Given the description of an element on the screen output the (x, y) to click on. 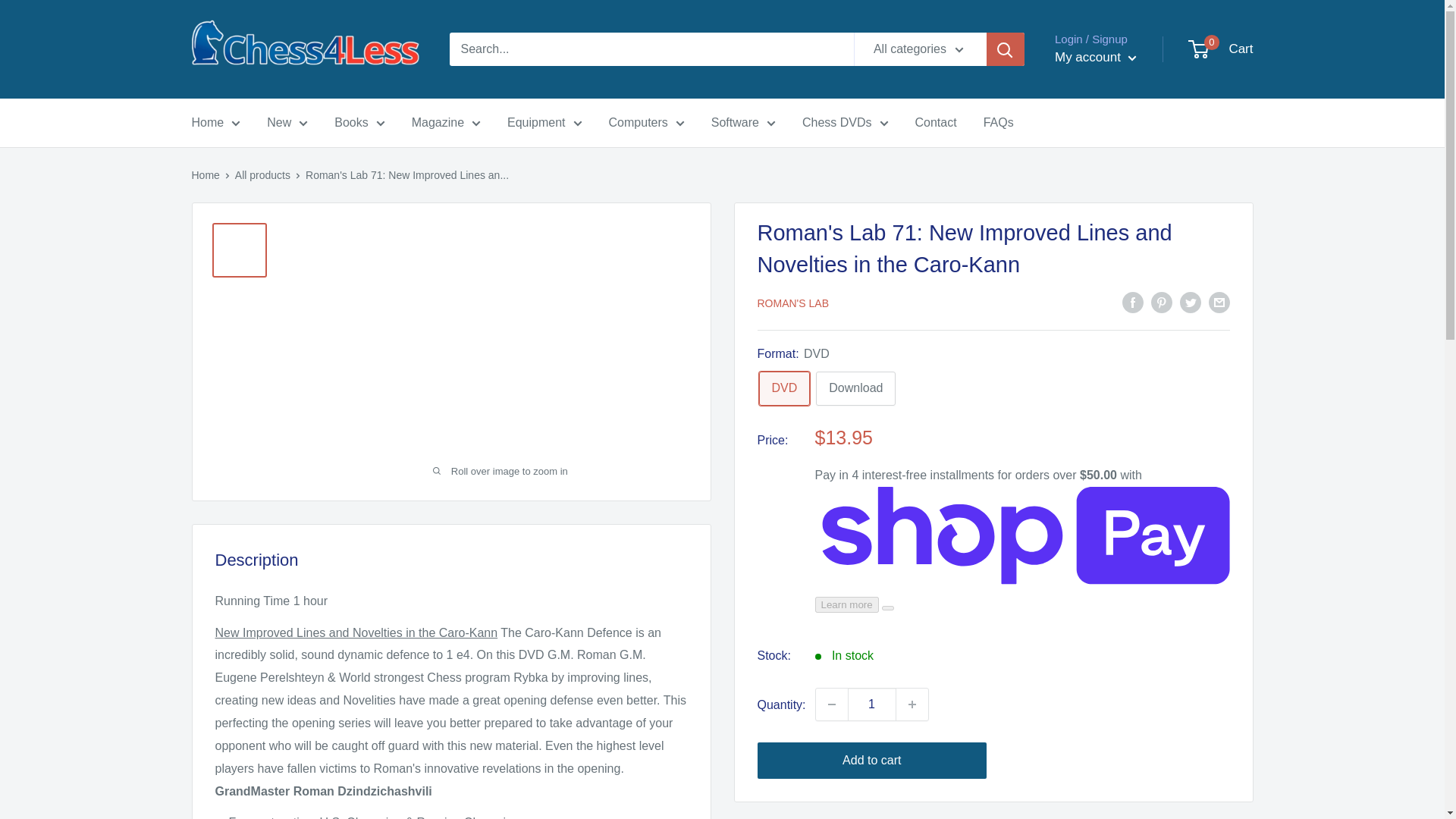
DVD (783, 388)
Increase quantity by 1 (912, 704)
Download (855, 388)
Decrease quantity by 1 (831, 704)
1 (871, 704)
